Given the description of an element on the screen output the (x, y) to click on. 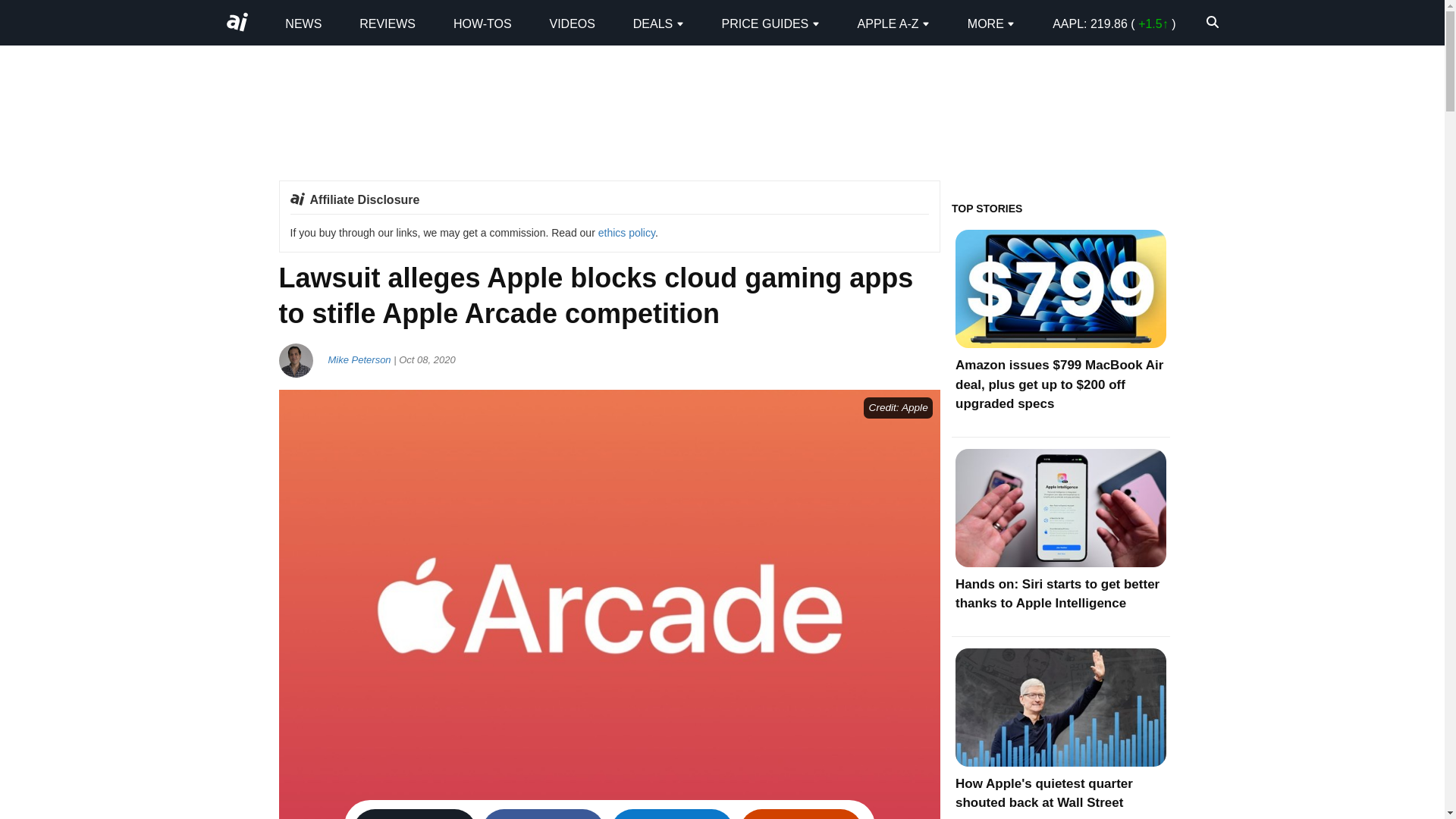
HOW-TOS (482, 23)
VIDEOS (571, 23)
Reviews (386, 23)
How-Tos (482, 23)
REVIEWS (386, 23)
Videos (571, 23)
News (303, 23)
NEWS (303, 23)
